Given the description of an element on the screen output the (x, y) to click on. 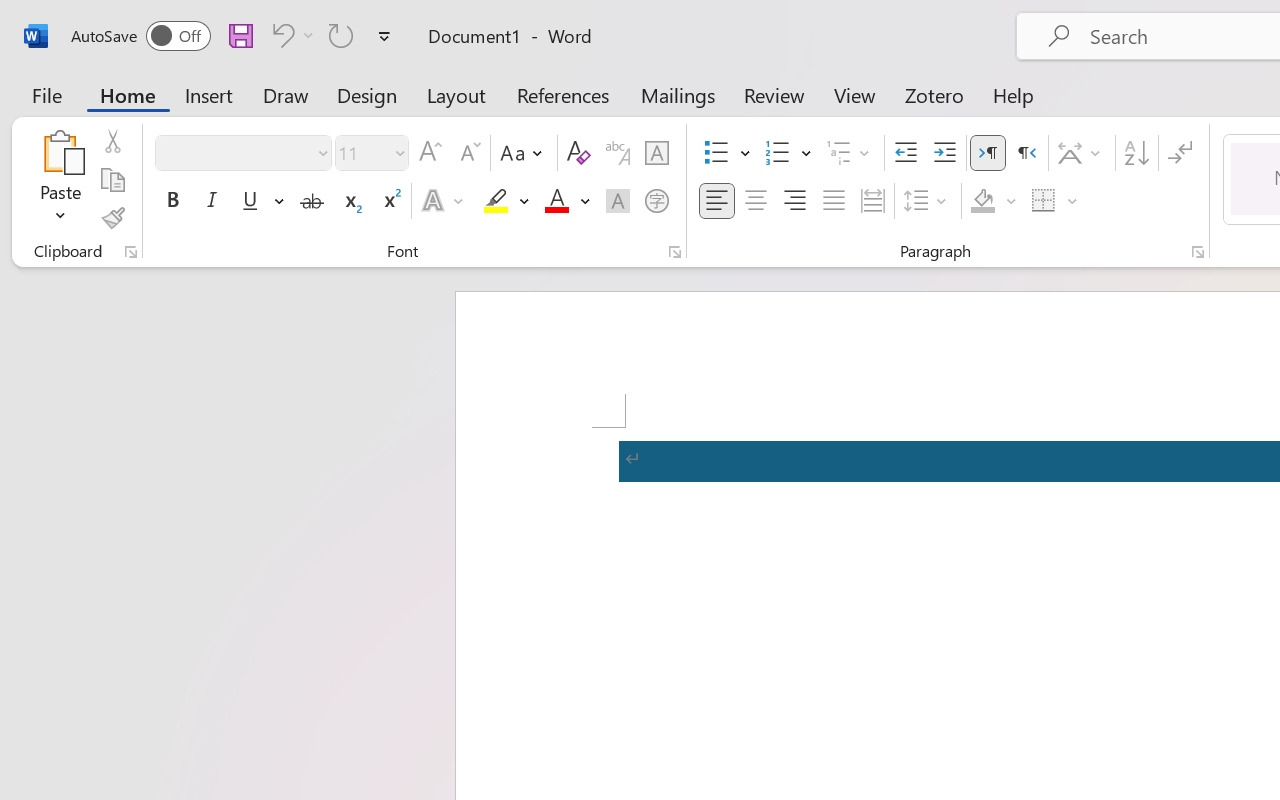
Font Color RGB(255, 0, 0) (556, 201)
